Given the description of an element on the screen output the (x, y) to click on. 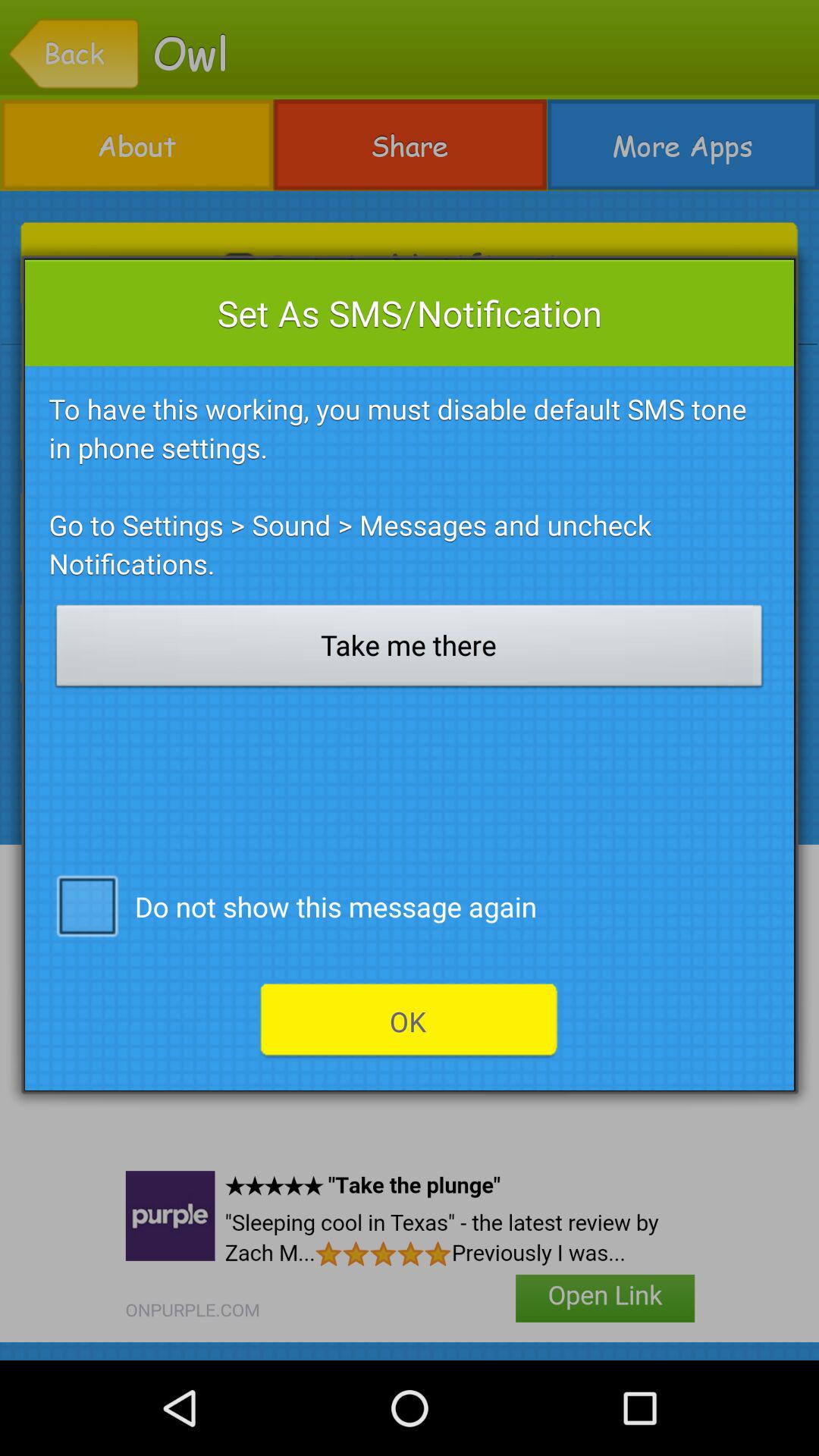
turn on the ok icon (408, 1021)
